Given the description of an element on the screen output the (x, y) to click on. 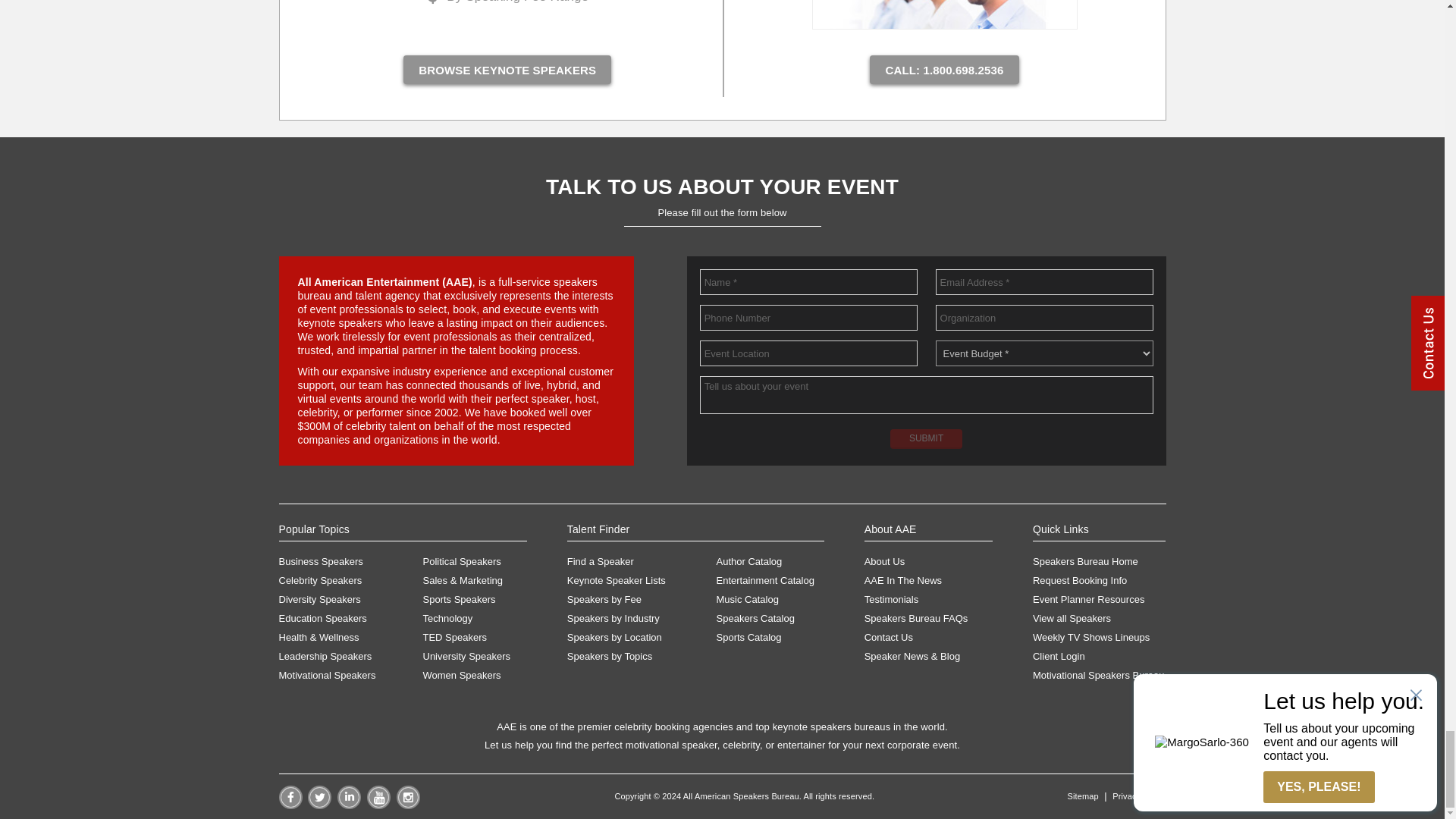
SUBMIT (925, 438)
